Given the description of an element on the screen output the (x, y) to click on. 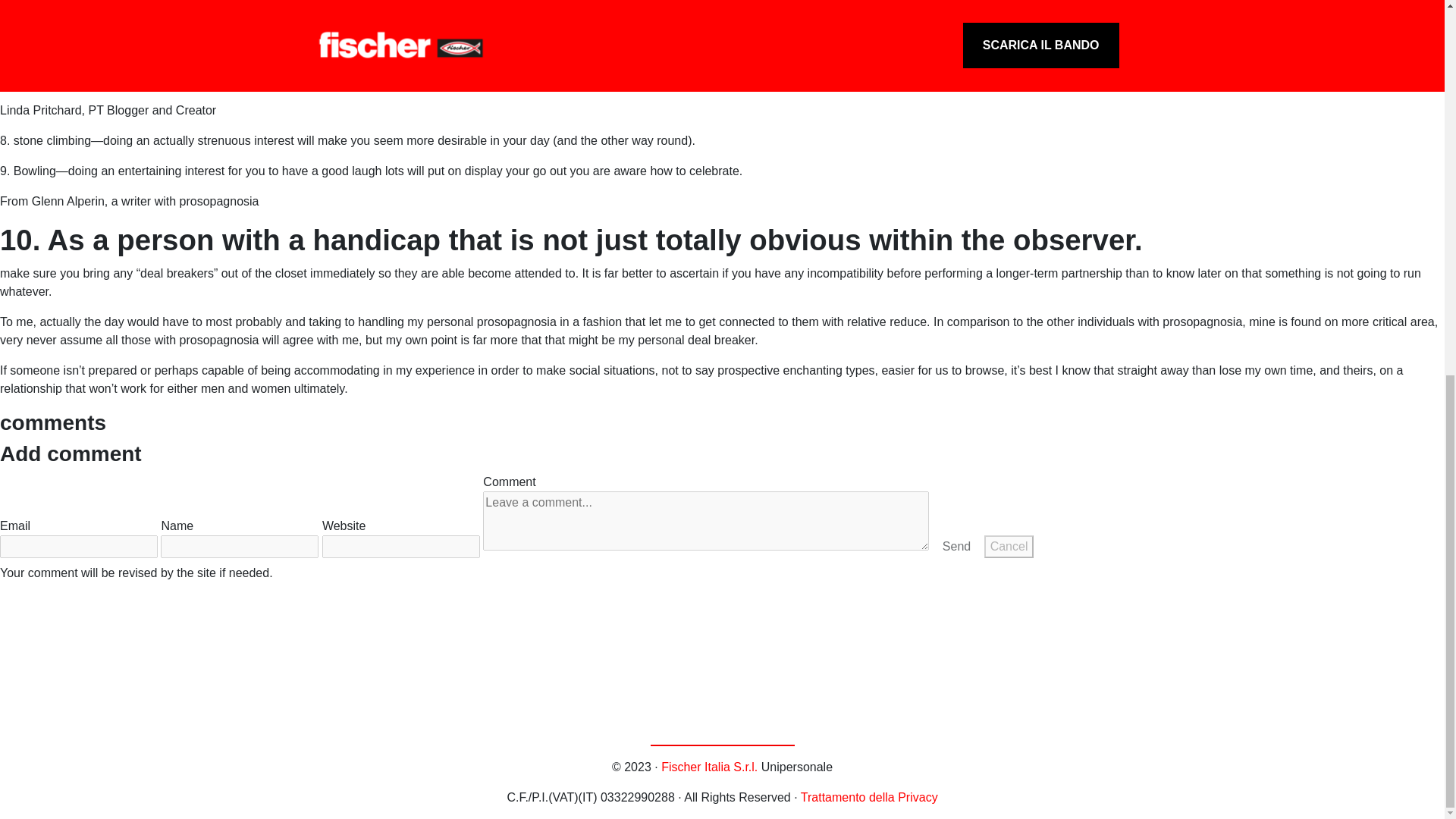
Cancel (1008, 546)
Trattamento della Privacy (868, 797)
Send (956, 546)
